Given the description of an element on the screen output the (x, y) to click on. 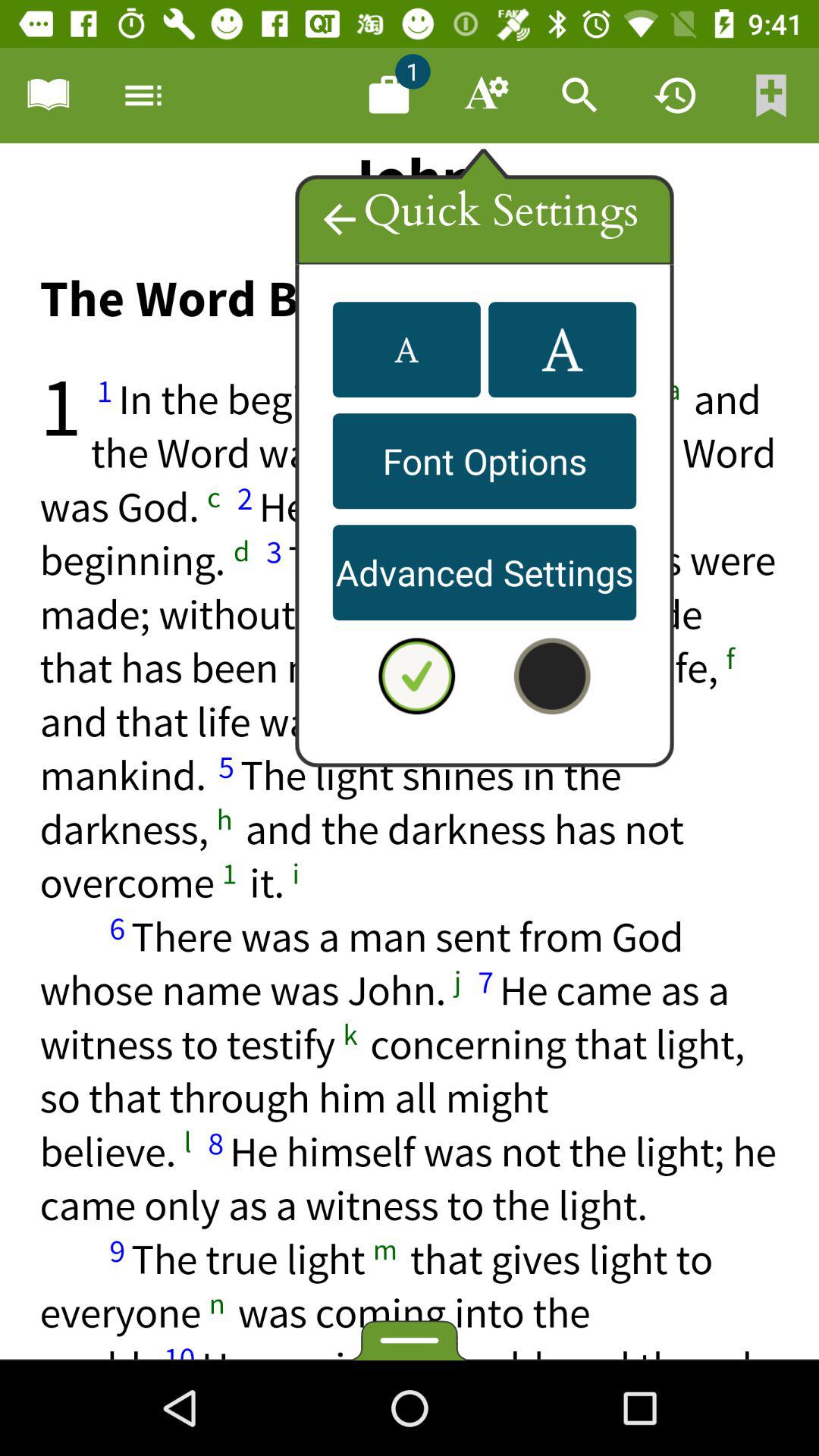
font style (406, 349)
